Given the description of an element on the screen output the (x, y) to click on. 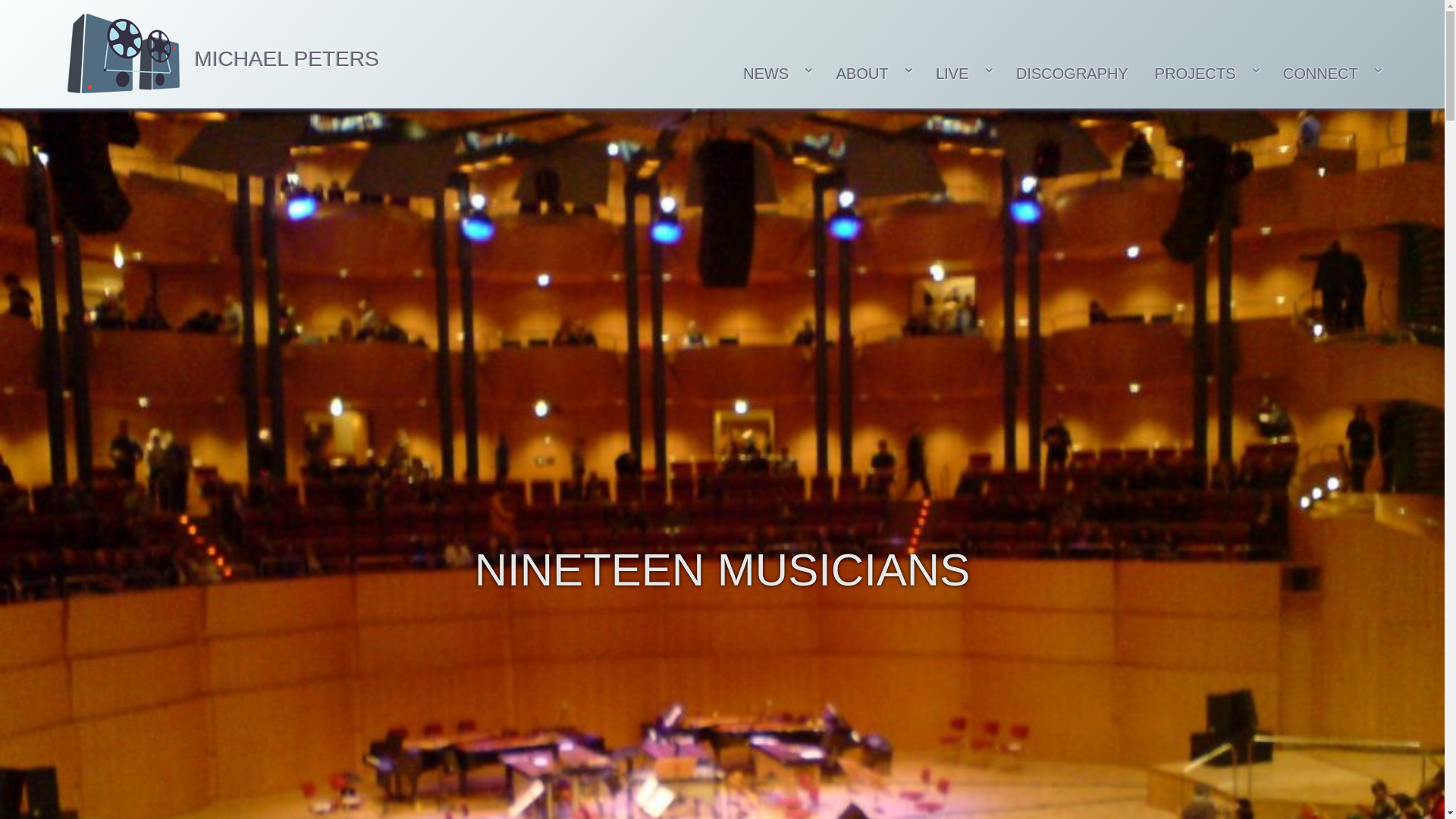
LIVE (963, 74)
PROJECTS (1205, 74)
 NEWS (773, 74)
CONNECT (1330, 74)
ABOUT (871, 74)
MICHAEL PETERS (286, 58)
DISCOGRAPHY (1072, 74)
